Given the description of an element on the screen output the (x, y) to click on. 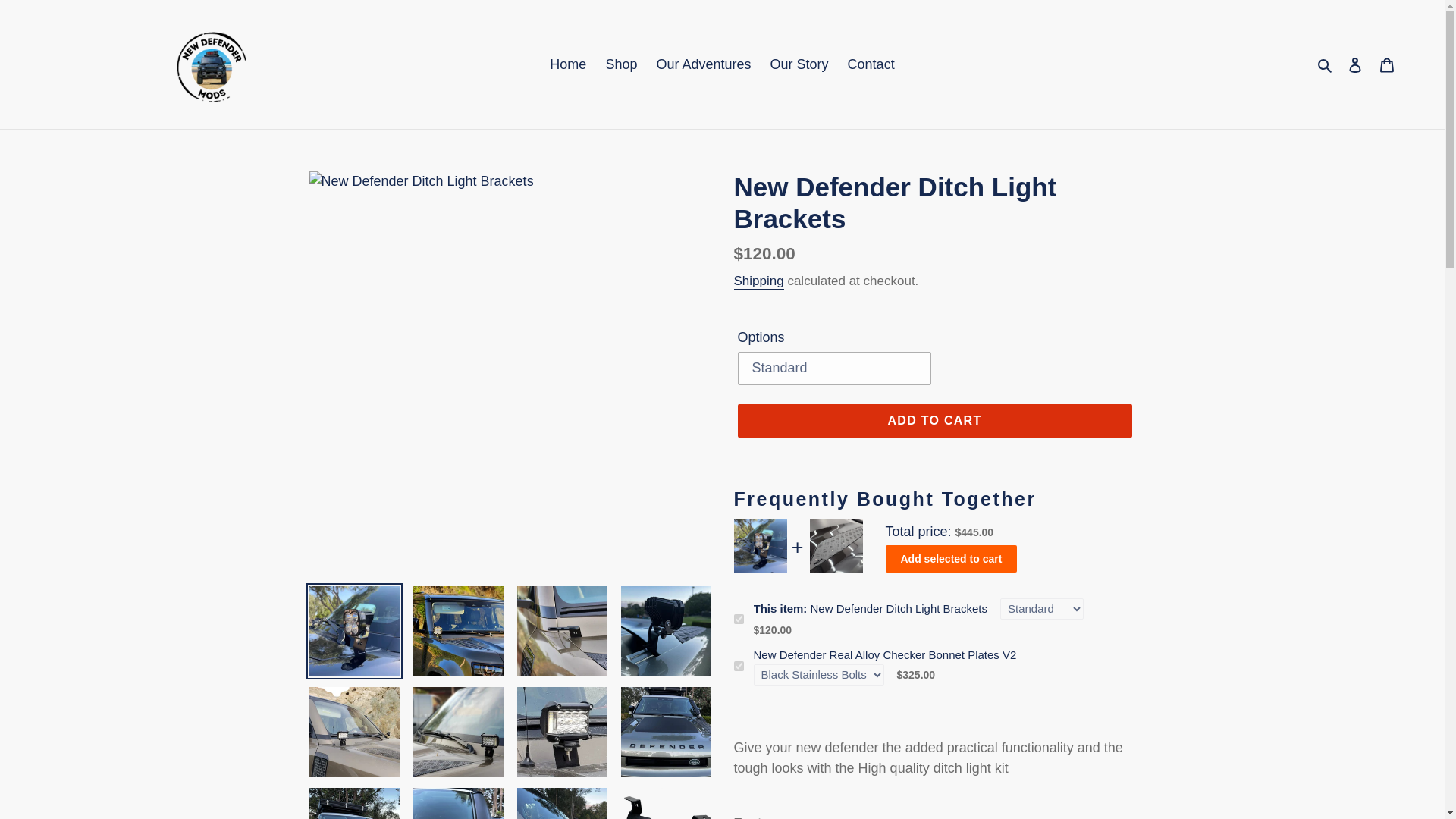
Search (1326, 64)
Home (567, 63)
Shipping (758, 281)
Our Story (798, 63)
ADD TO CART (933, 420)
Shop (620, 63)
7207389987005 (738, 665)
Our Adventures (702, 63)
7247789326525 (738, 619)
Log in (1355, 64)
Cart (1387, 64)
Contact (871, 63)
